Given the description of an element on the screen output the (x, y) to click on. 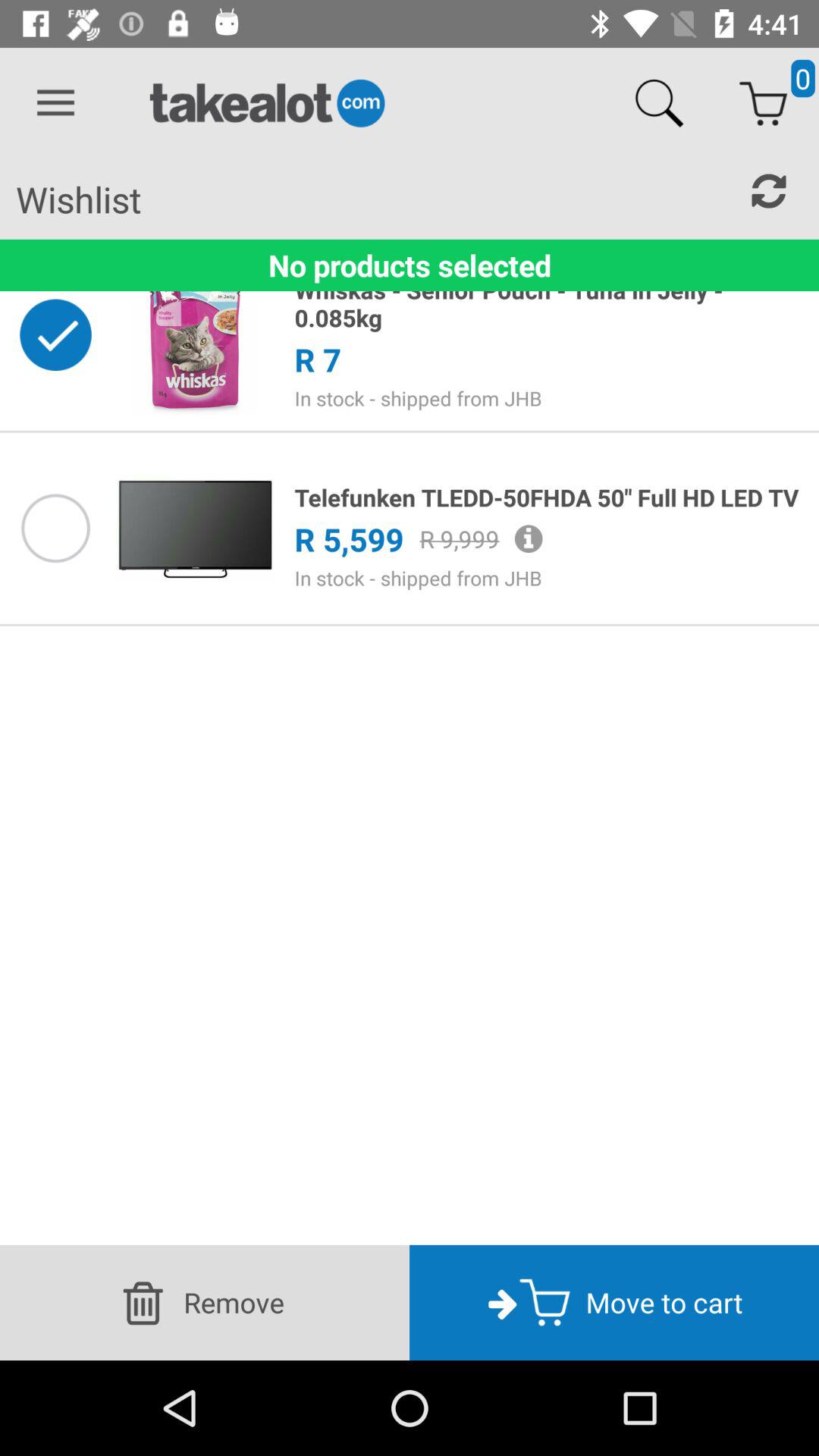
select the image which is before r 7 (194, 335)
select the add to cart icon on page (763, 103)
select the icon which is right to remove (503, 1302)
click on the correct marked option in front of r7 text (55, 335)
click on refresh icon (769, 191)
